Given the description of an element on the screen output the (x, y) to click on. 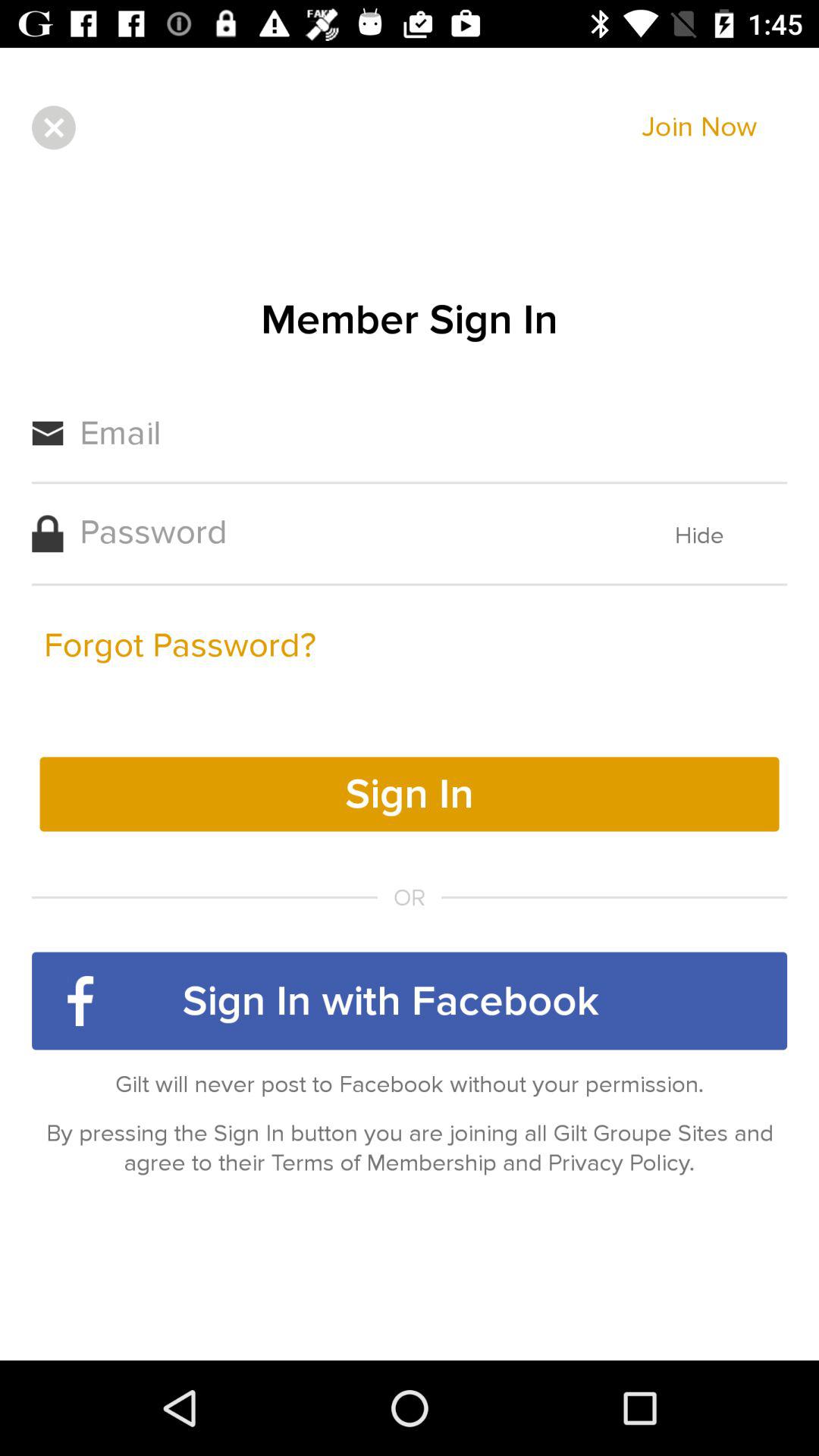
flip until join now item (699, 127)
